Given the description of an element on the screen output the (x, y) to click on. 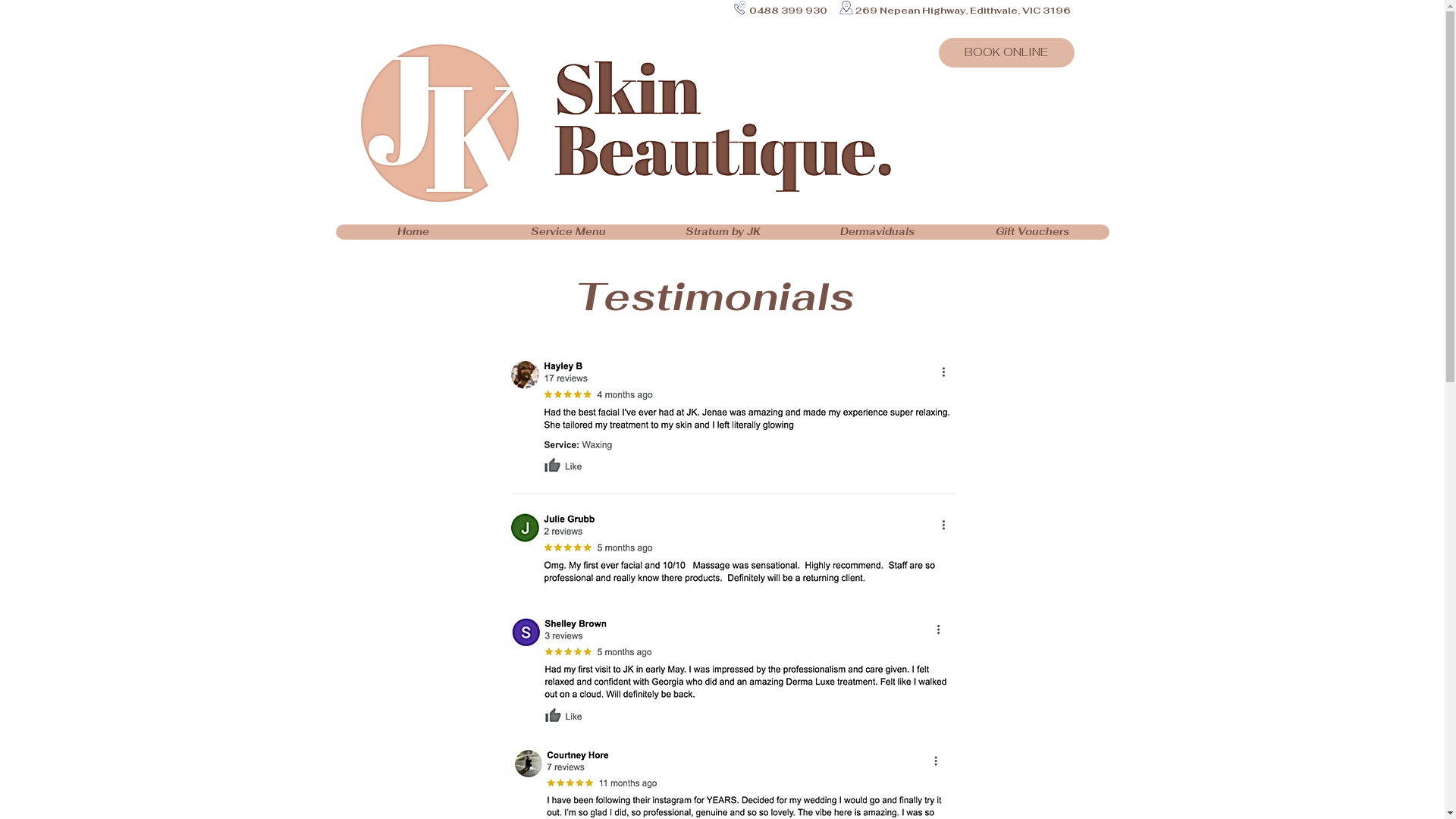
Gift Vouchers Element type: text (1030, 231)
0488 399 930 Element type: text (788, 10)
Service Menu Element type: text (566, 231)
Home Element type: text (412, 231)
Dermaviduals Element type: text (876, 231)
Stratum by JK Element type: text (721, 231)
BOOK ONLINE Element type: text (1006, 52)
